Given the description of an element on the screen output the (x, y) to click on. 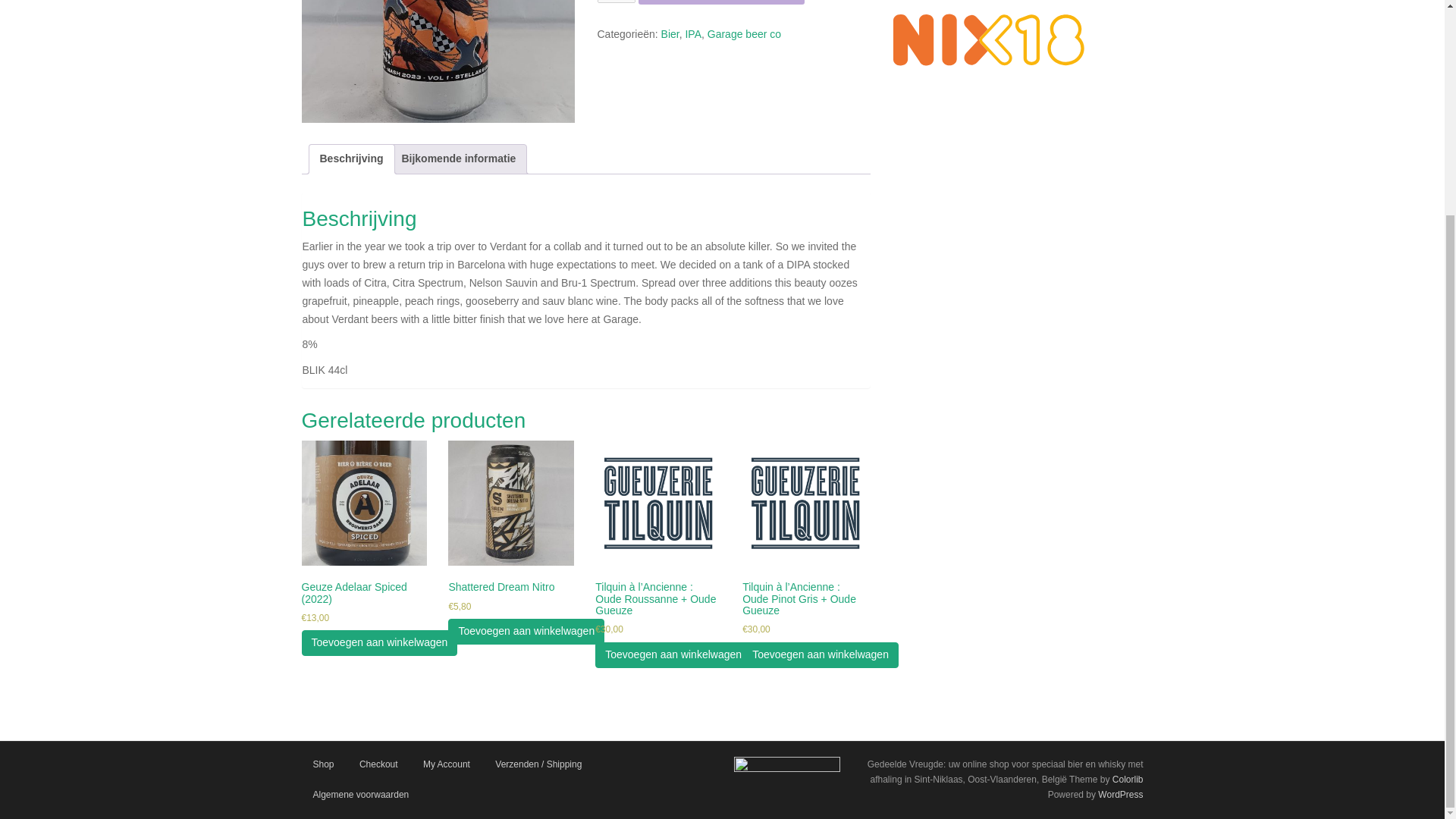
Toevoegen aan winkelwagen (526, 631)
Beschrijving (352, 158)
Garage beer co (743, 33)
IPA (692, 33)
Toevoegen aan winkelwagen (722, 2)
1 (616, 2)
Bier (670, 33)
Toevoegen aan winkelwagen (673, 655)
Bijkomende informatie (458, 158)
Toevoegen aan winkelwagen (379, 642)
